Given the description of an element on the screen output the (x, y) to click on. 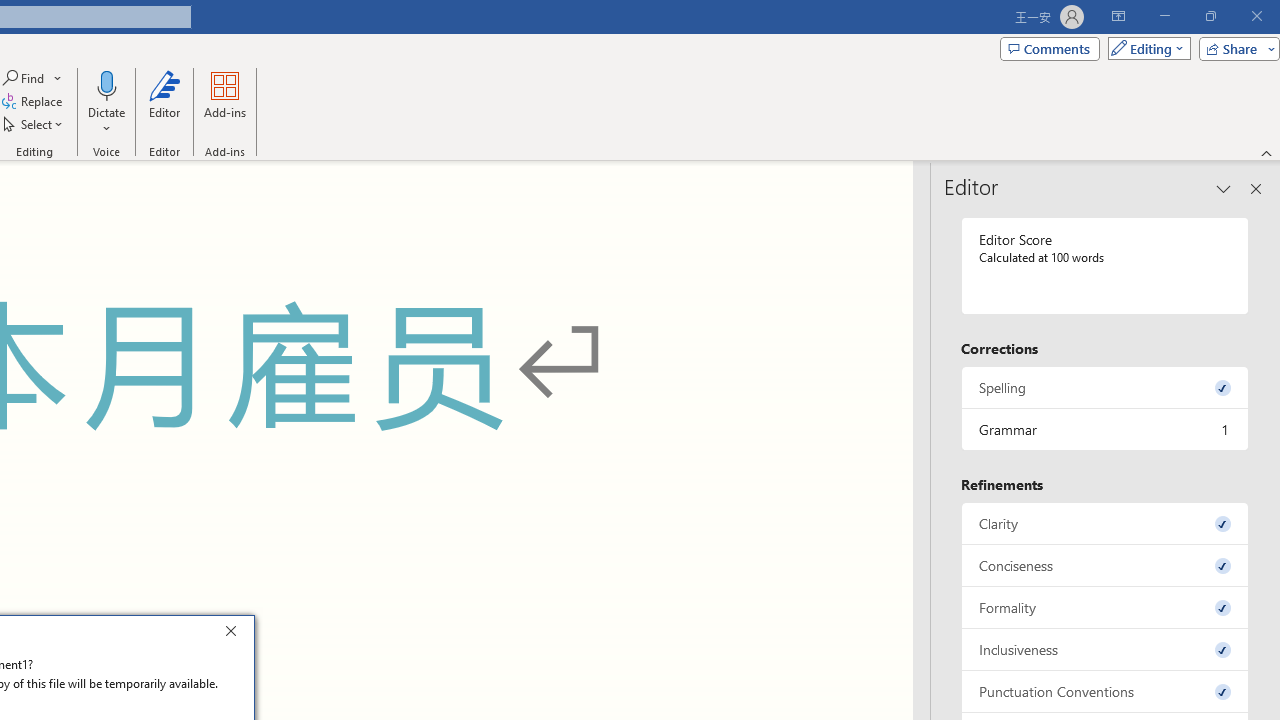
Clarity, 0 issues. Press space or enter to review items. (1105, 523)
Conciseness, 0 issues. Press space or enter to review items. (1105, 565)
Spelling, 0 issues. Press space or enter to review items. (1105, 387)
